Given the description of an element on the screen output the (x, y) to click on. 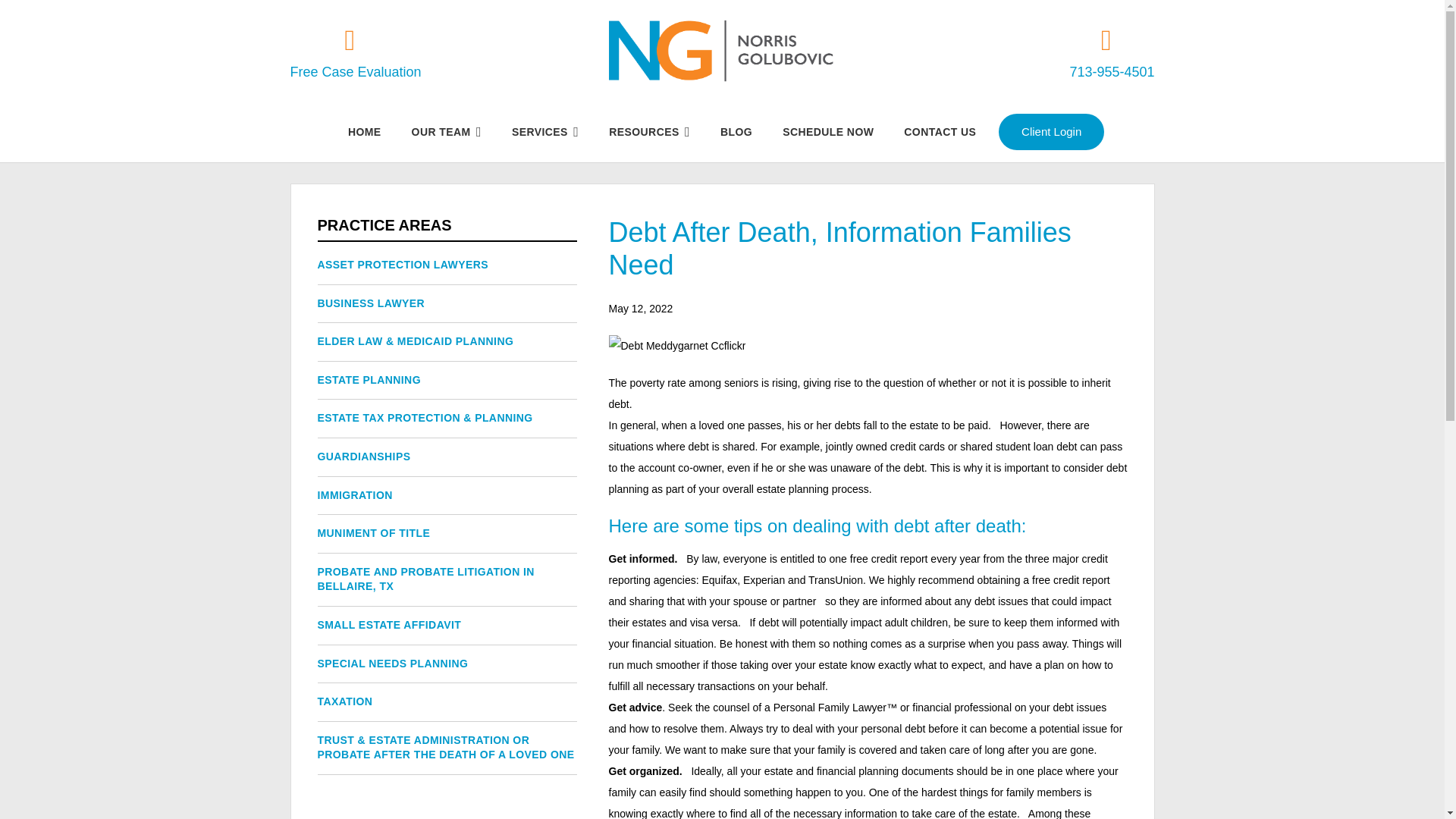
SCHEDULE NOW (827, 131)
Free Case Evaluation (354, 50)
RESOURCES (649, 131)
713-955-4501 (1111, 50)
SERVICES (545, 131)
Client Login (1050, 131)
ESTATE PLANNING (368, 379)
ASSET PROTECTION LAWYERS (402, 264)
HOME (364, 131)
Debt After Death, Information Families Need (676, 345)
